Given the description of an element on the screen output the (x, y) to click on. 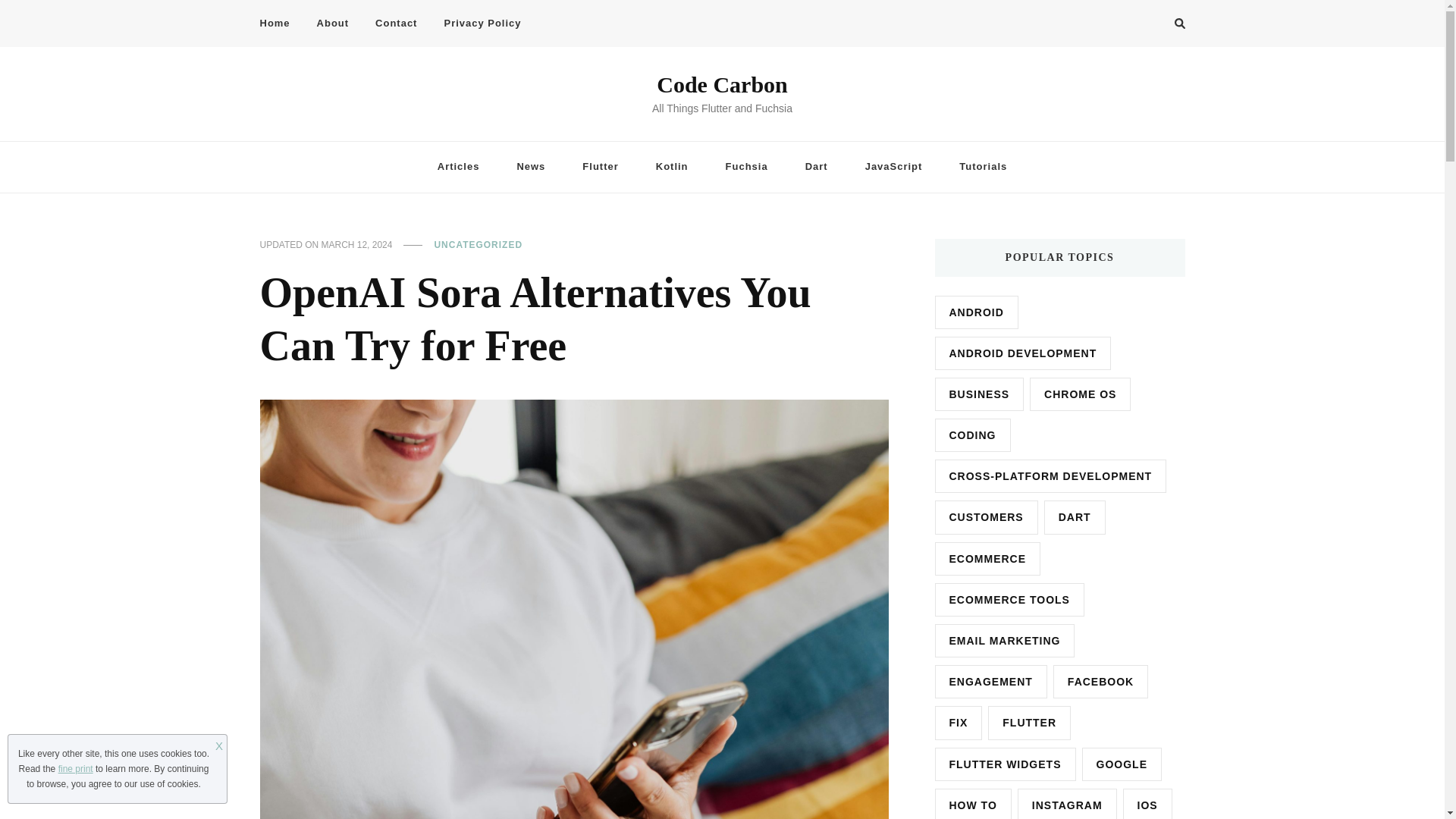
Flutter (600, 166)
JavaScript (893, 166)
News (530, 166)
UNCATEGORIZED (477, 245)
Code Carbon (721, 84)
MARCH 12, 2024 (357, 245)
Tutorials (982, 166)
Articles (458, 166)
Contact (396, 23)
Privacy Policy (482, 23)
Dart (816, 166)
About (333, 23)
Fuchsia (746, 166)
Kotlin (671, 166)
Search (1152, 26)
